Given the description of an element on the screen output the (x, y) to click on. 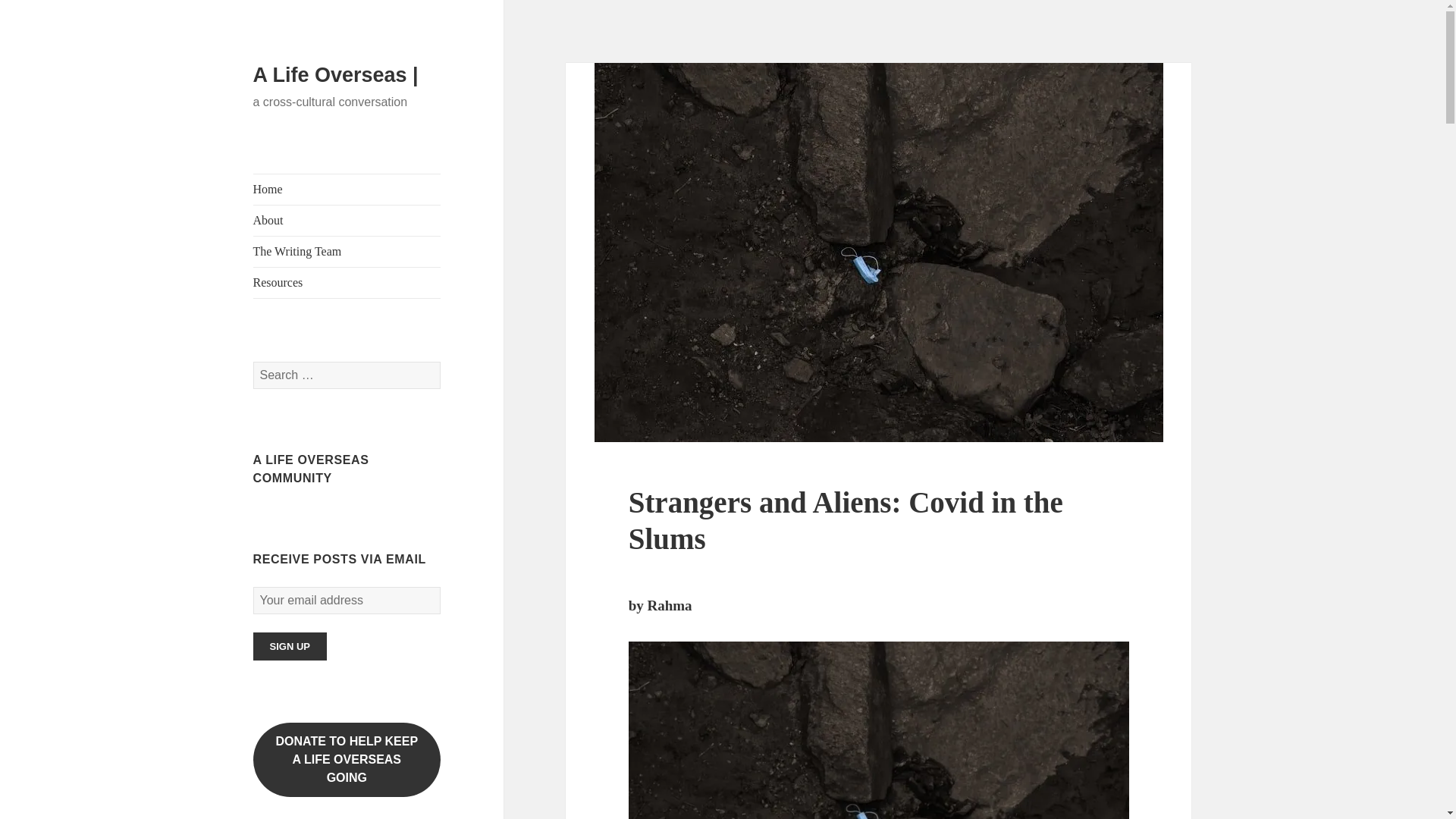
The Writing Team (347, 251)
Resources (347, 282)
Home (347, 189)
Sign up (289, 646)
Sign up (289, 646)
About (347, 759)
